Given the description of an element on the screen output the (x, y) to click on. 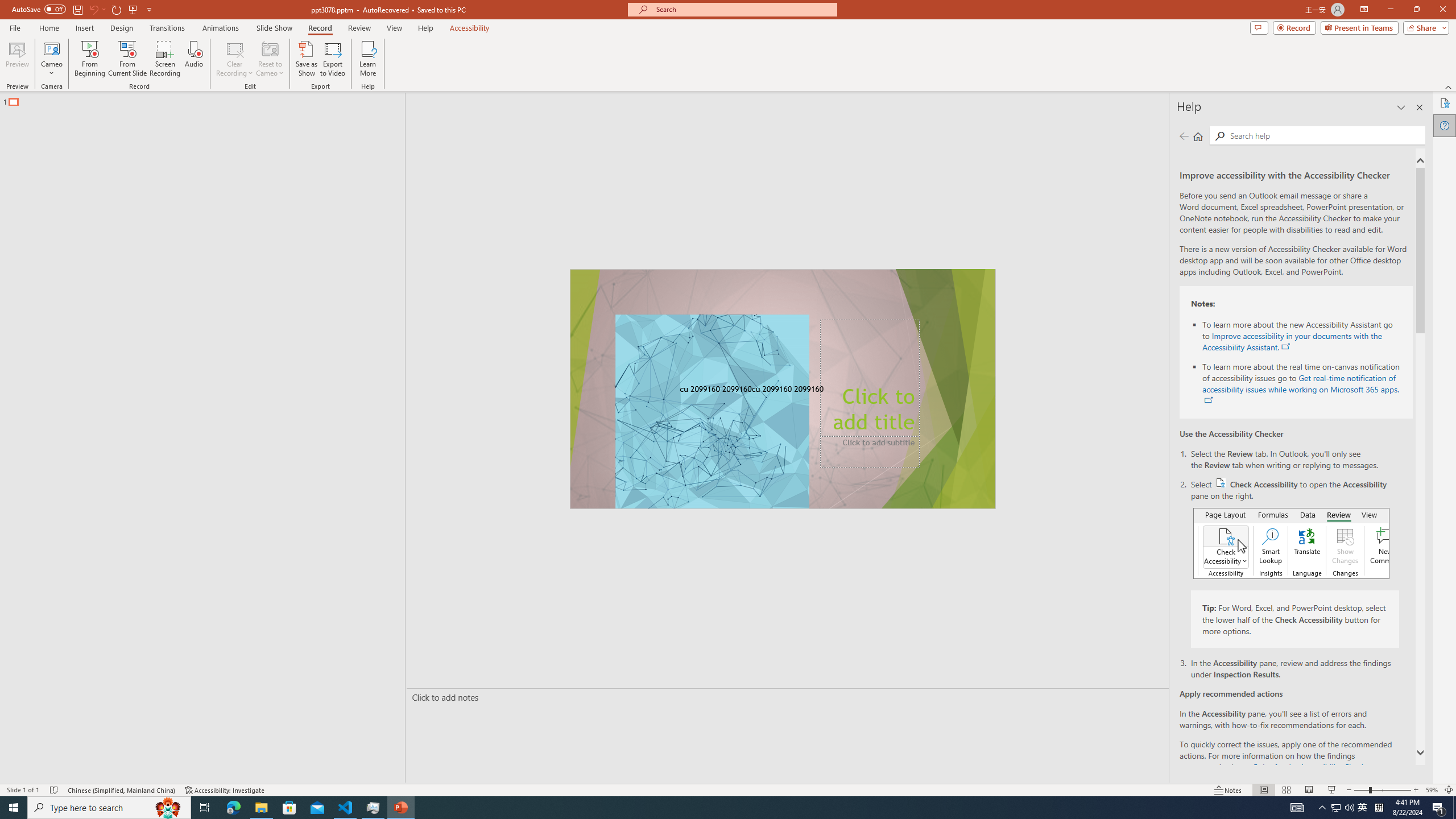
Microsoft search (742, 9)
Zoom 59% (1431, 790)
Outline (207, 99)
